Given the description of an element on the screen output the (x, y) to click on. 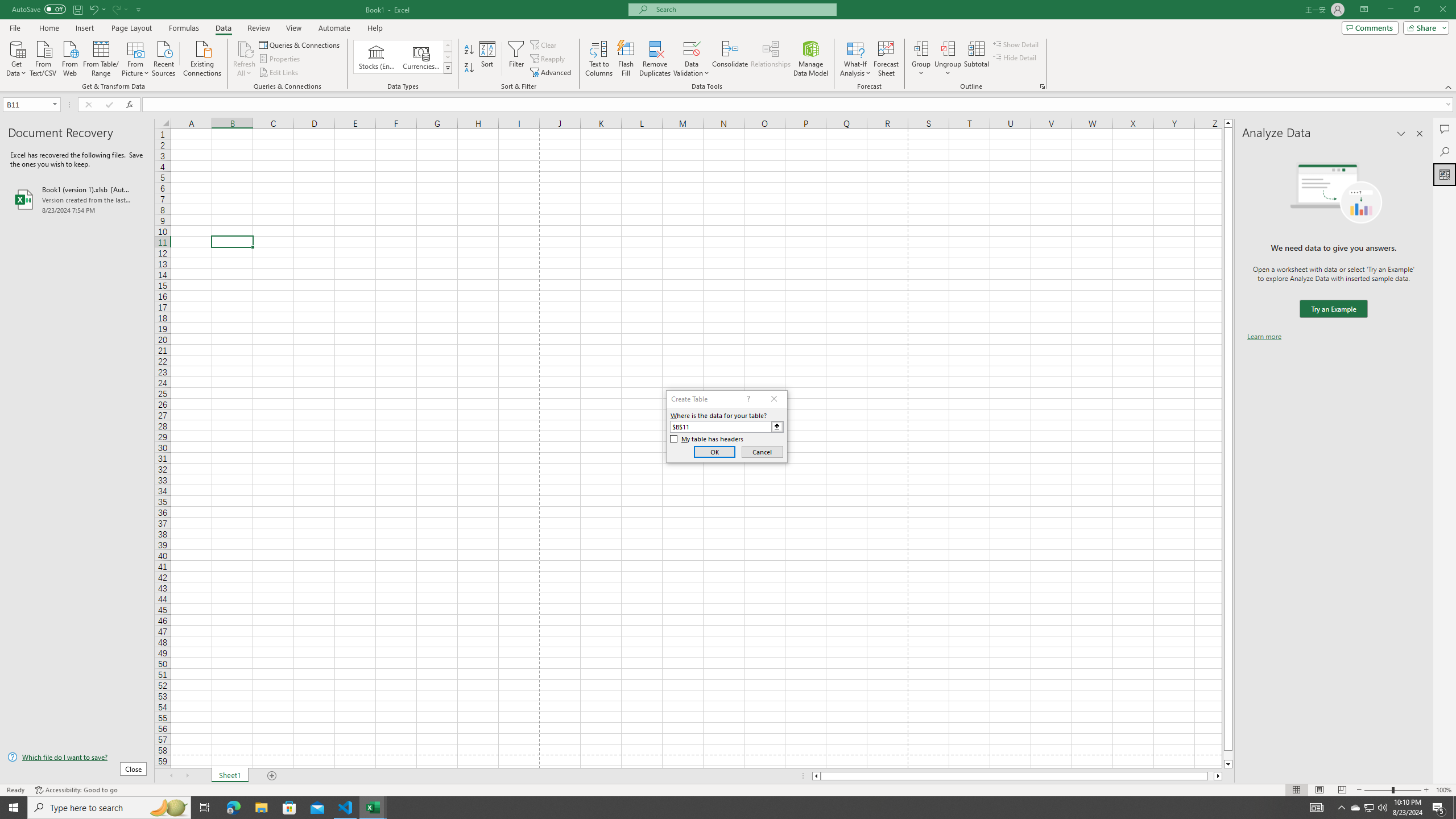
Scroll Left (171, 775)
More Options (947, 68)
